Given the description of an element on the screen output the (x, y) to click on. 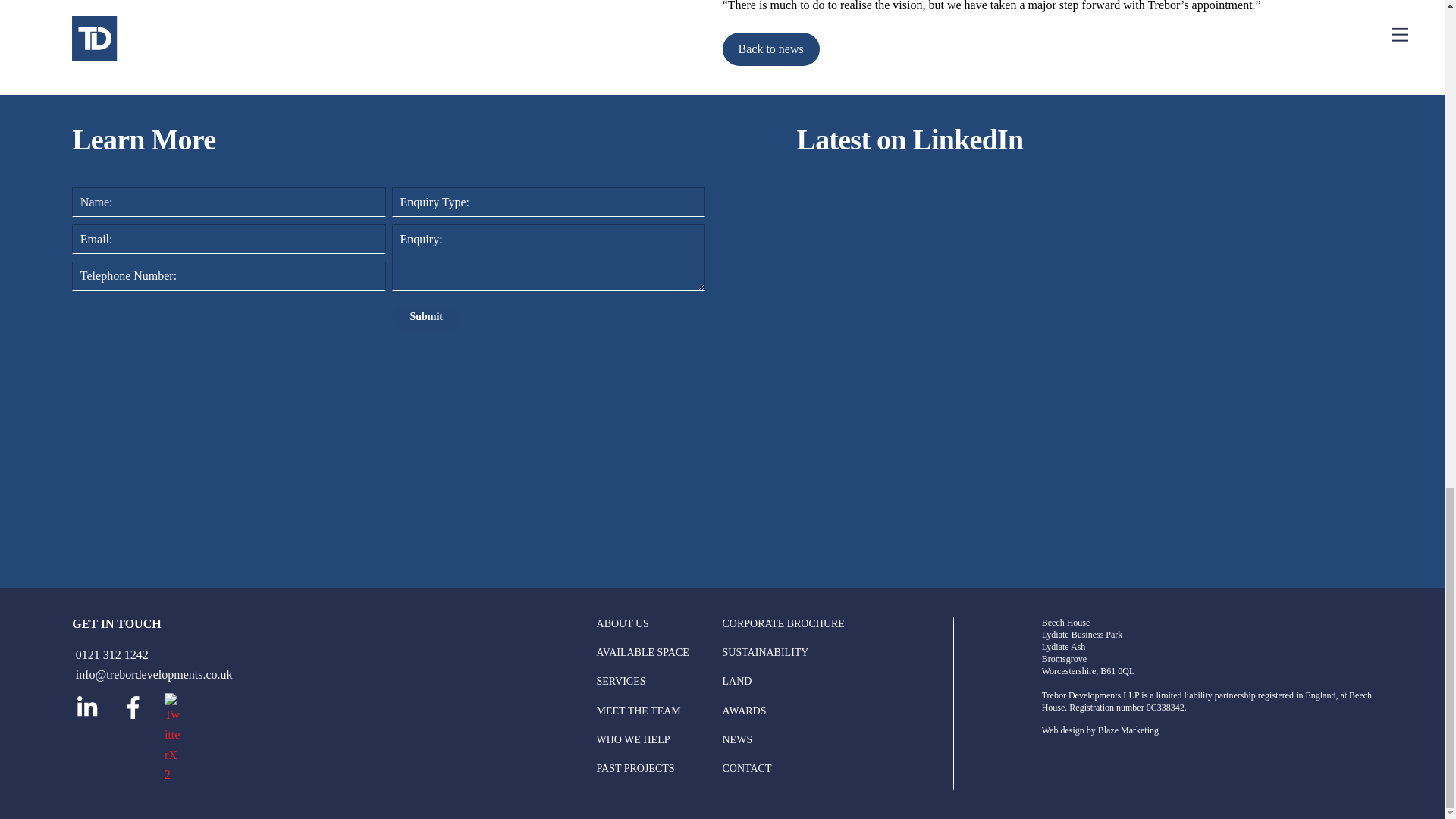
TwitterX2 (173, 739)
Submit (425, 317)
